Given the description of an element on the screen output the (x, y) to click on. 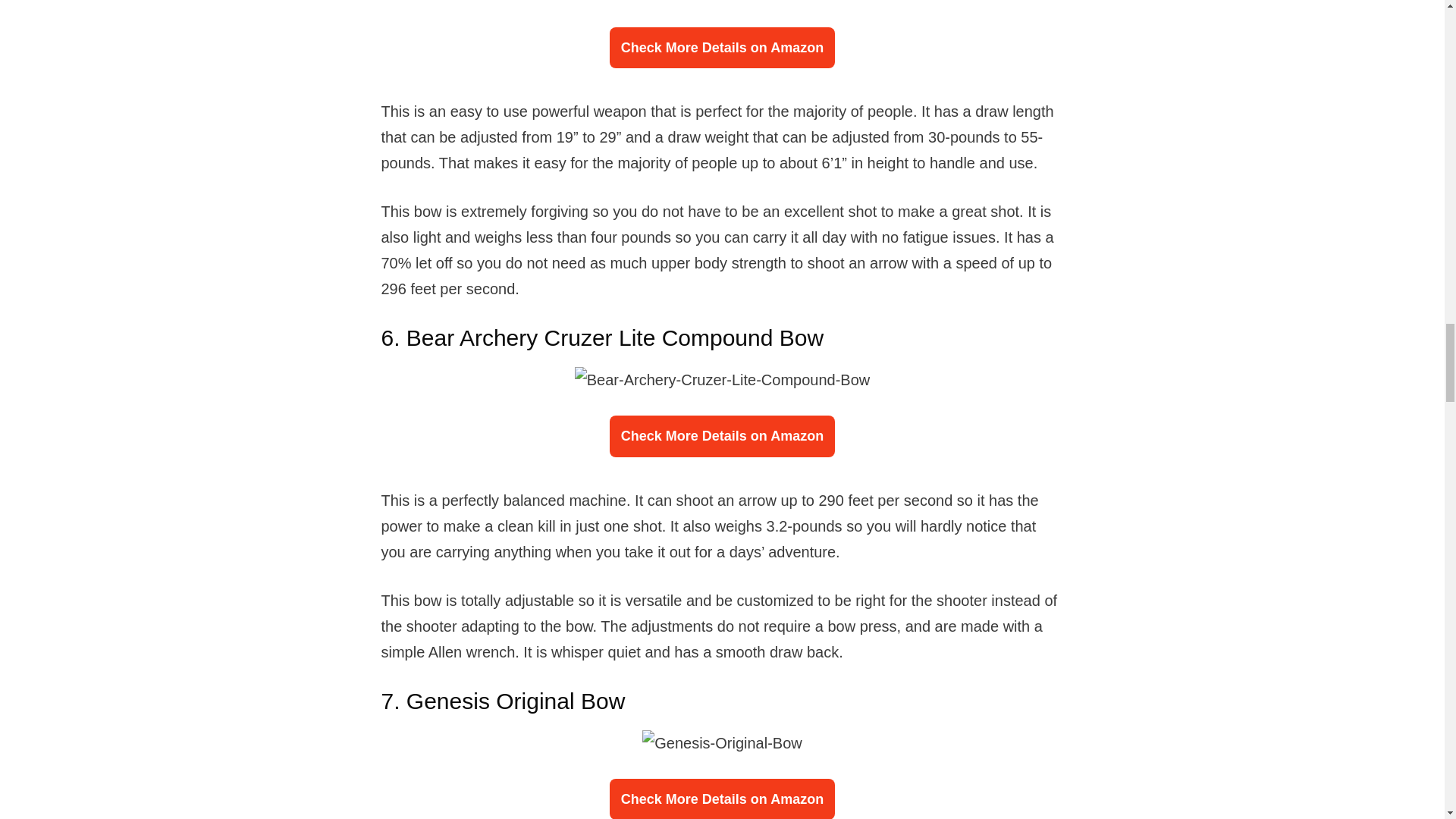
Check More Details on Amazon (722, 436)
Check More Details on Amazon (722, 798)
Check More Details on Amazon (722, 47)
